Given the description of an element on the screen output the (x, y) to click on. 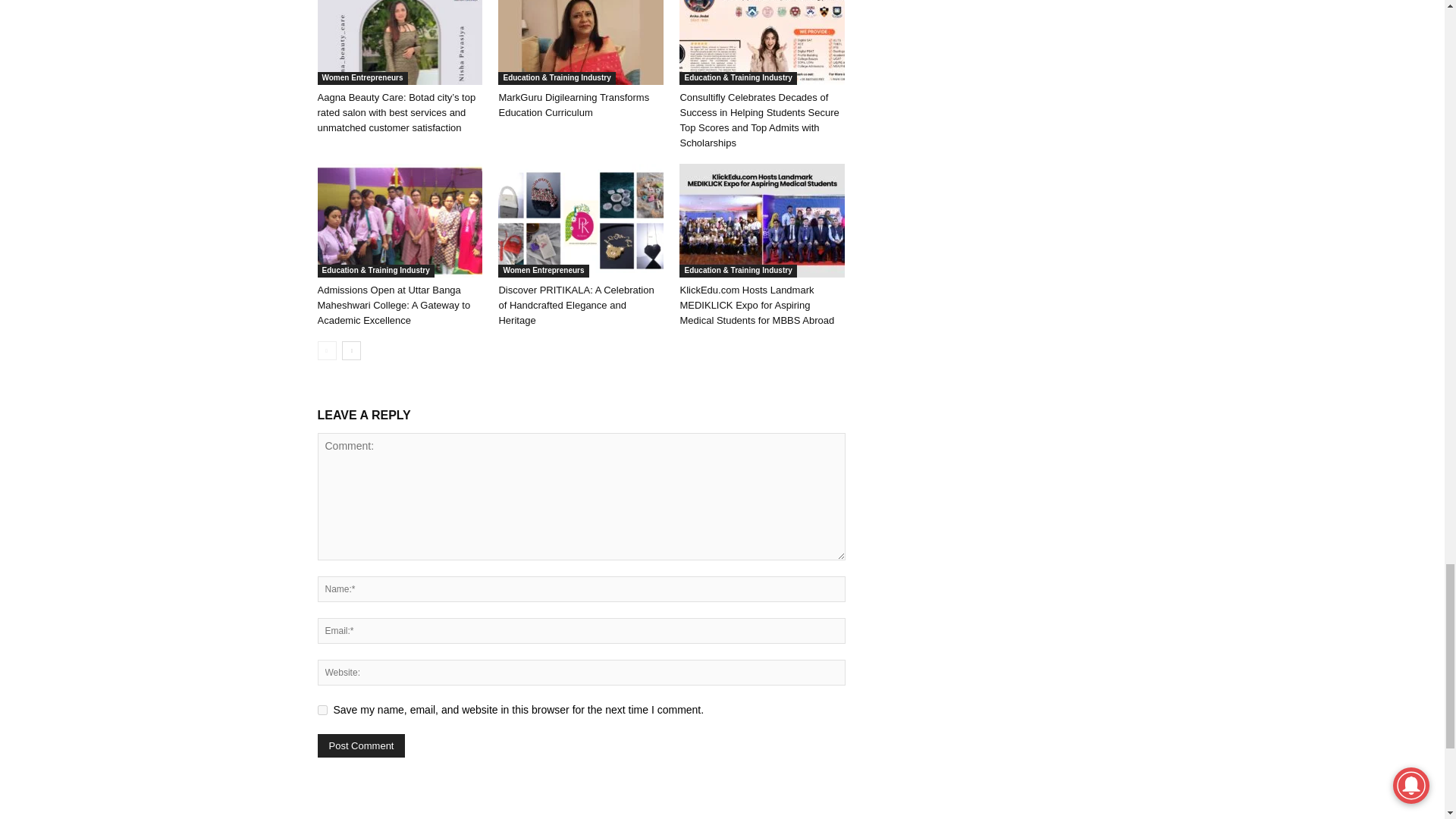
Post Comment (360, 745)
yes (321, 709)
